Given the description of an element on the screen output the (x, y) to click on. 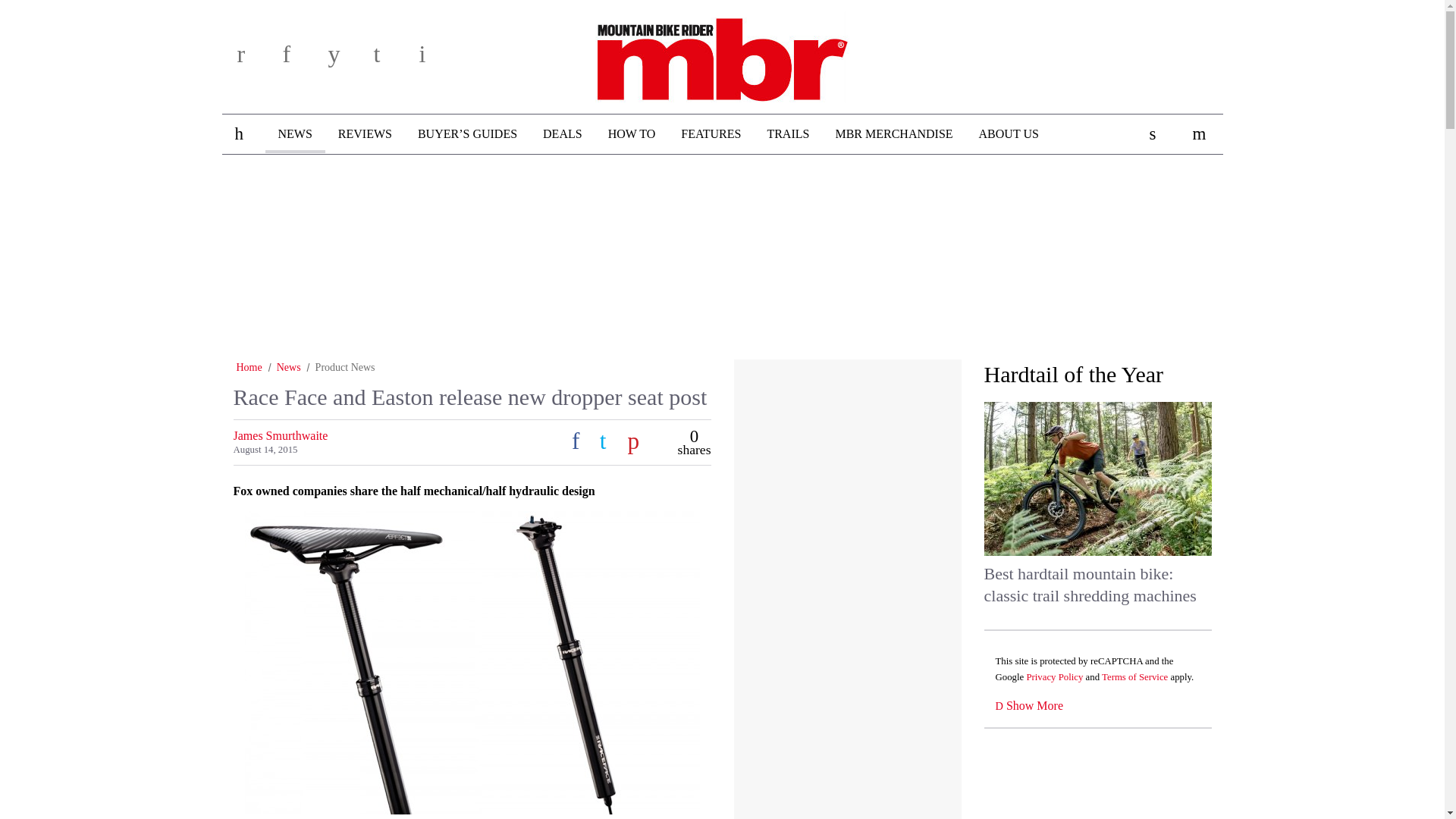
Home (248, 367)
HOW TO (631, 133)
r (254, 59)
Product News (345, 367)
FEATURES (711, 133)
James Smurthwaite's Profile (280, 435)
y (345, 59)
MBR MERCHANDISE (893, 133)
News (288, 367)
TRAILS (788, 133)
